Given the description of an element on the screen output the (x, y) to click on. 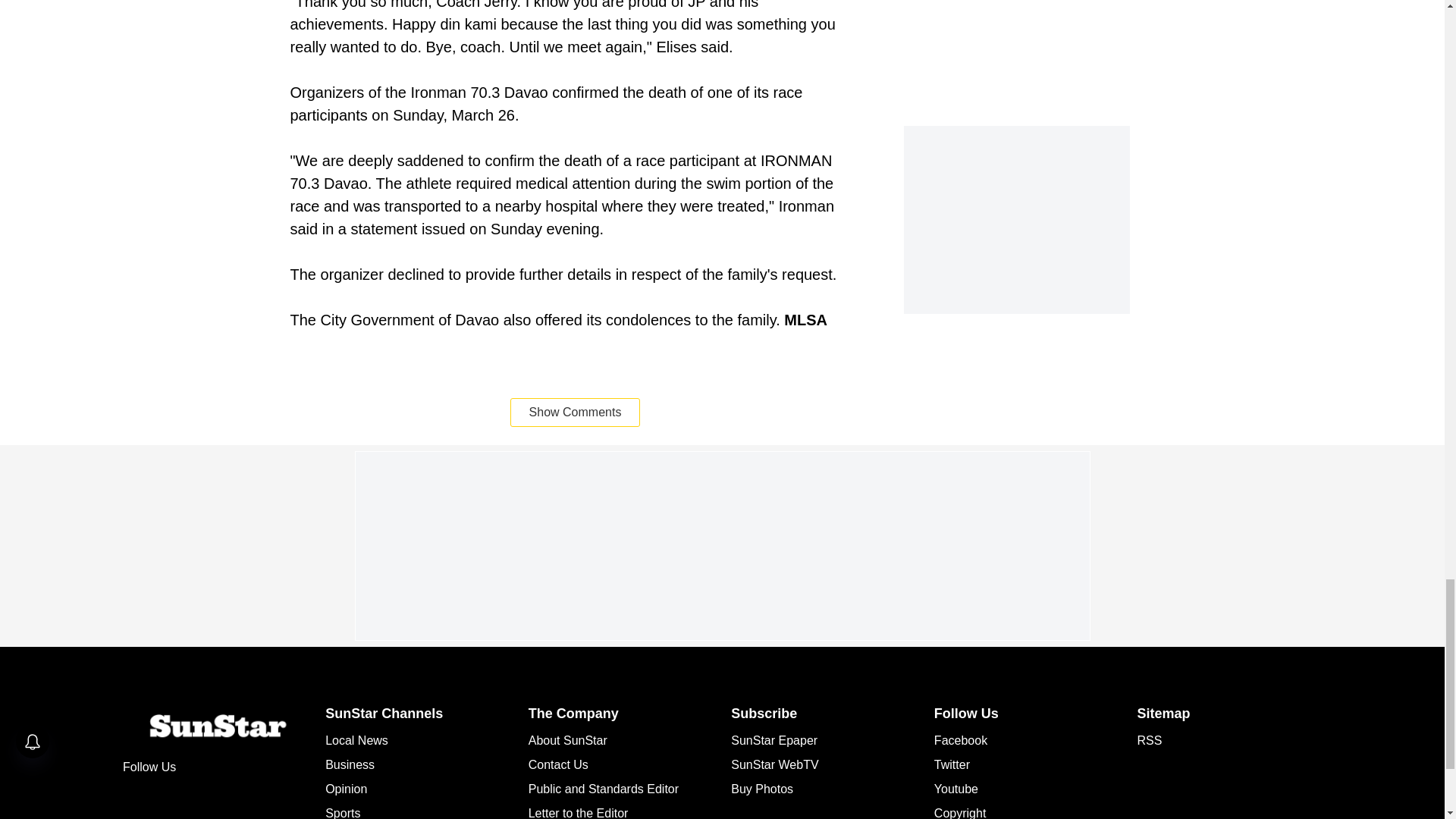
Local News (356, 739)
Show Comments (575, 412)
About SunStar (567, 739)
Contact Us (558, 764)
Public and Standards Editor (603, 788)
Business (349, 764)
Sports (341, 812)
Letter to the Editor (578, 812)
Opinion (345, 788)
